Given the description of an element on the screen output the (x, y) to click on. 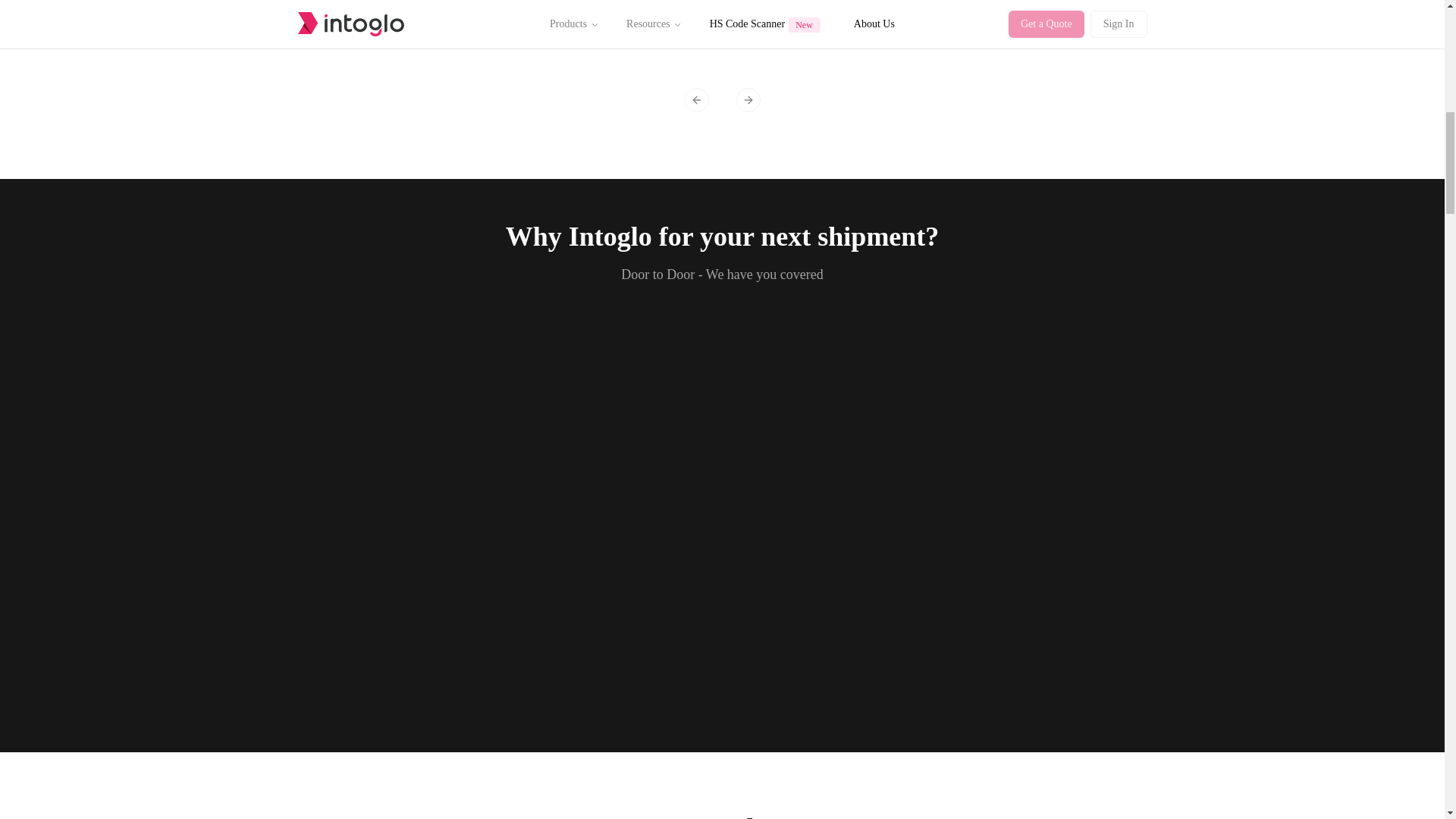
Next slide (747, 99)
Previous slide (695, 99)
